Given the description of an element on the screen output the (x, y) to click on. 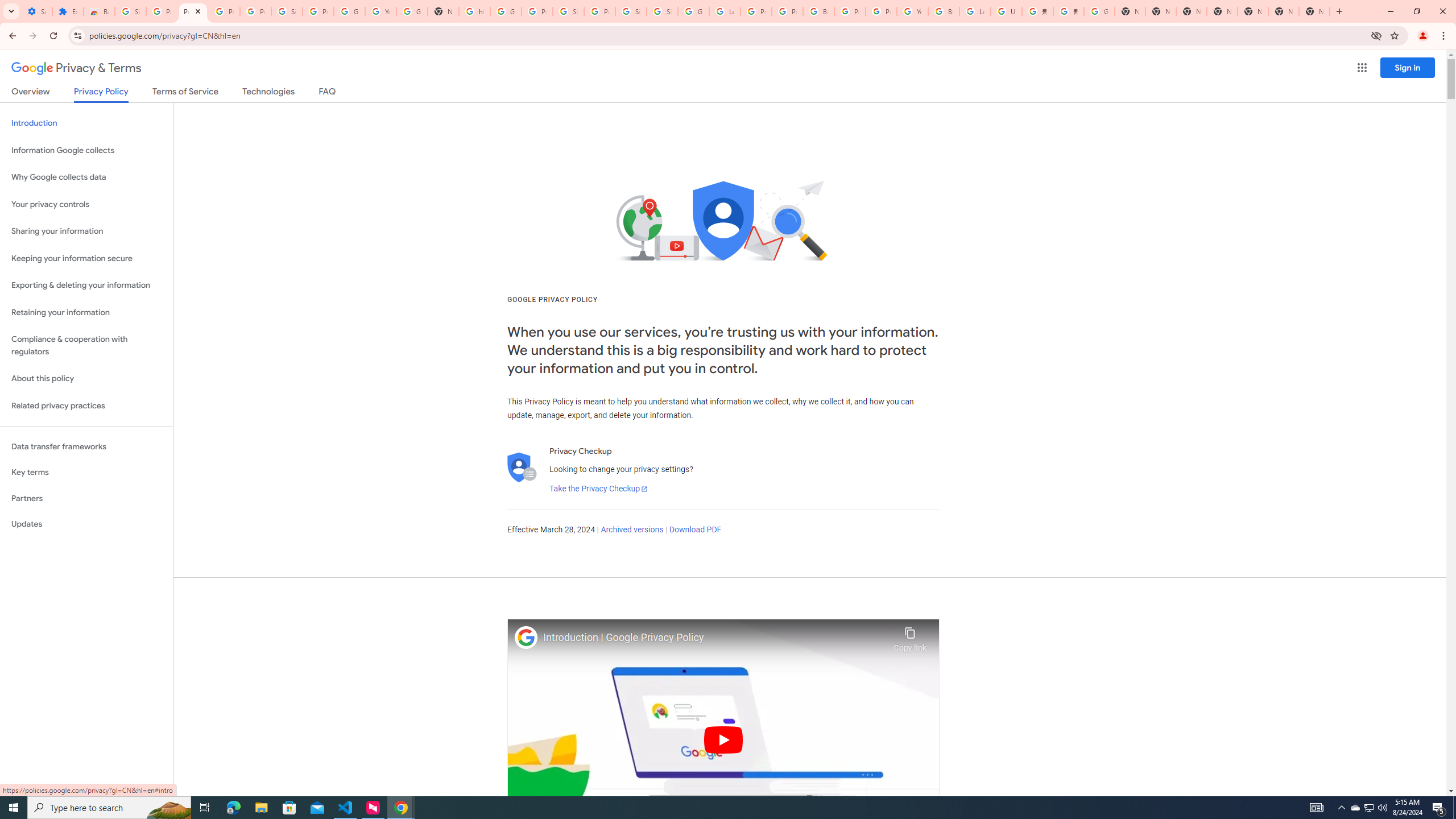
About this policy (86, 379)
Key terms (86, 472)
Copy link (909, 636)
Settings - On startup (36, 11)
Sign in - Google Accounts (130, 11)
